Given the description of an element on the screen output the (x, y) to click on. 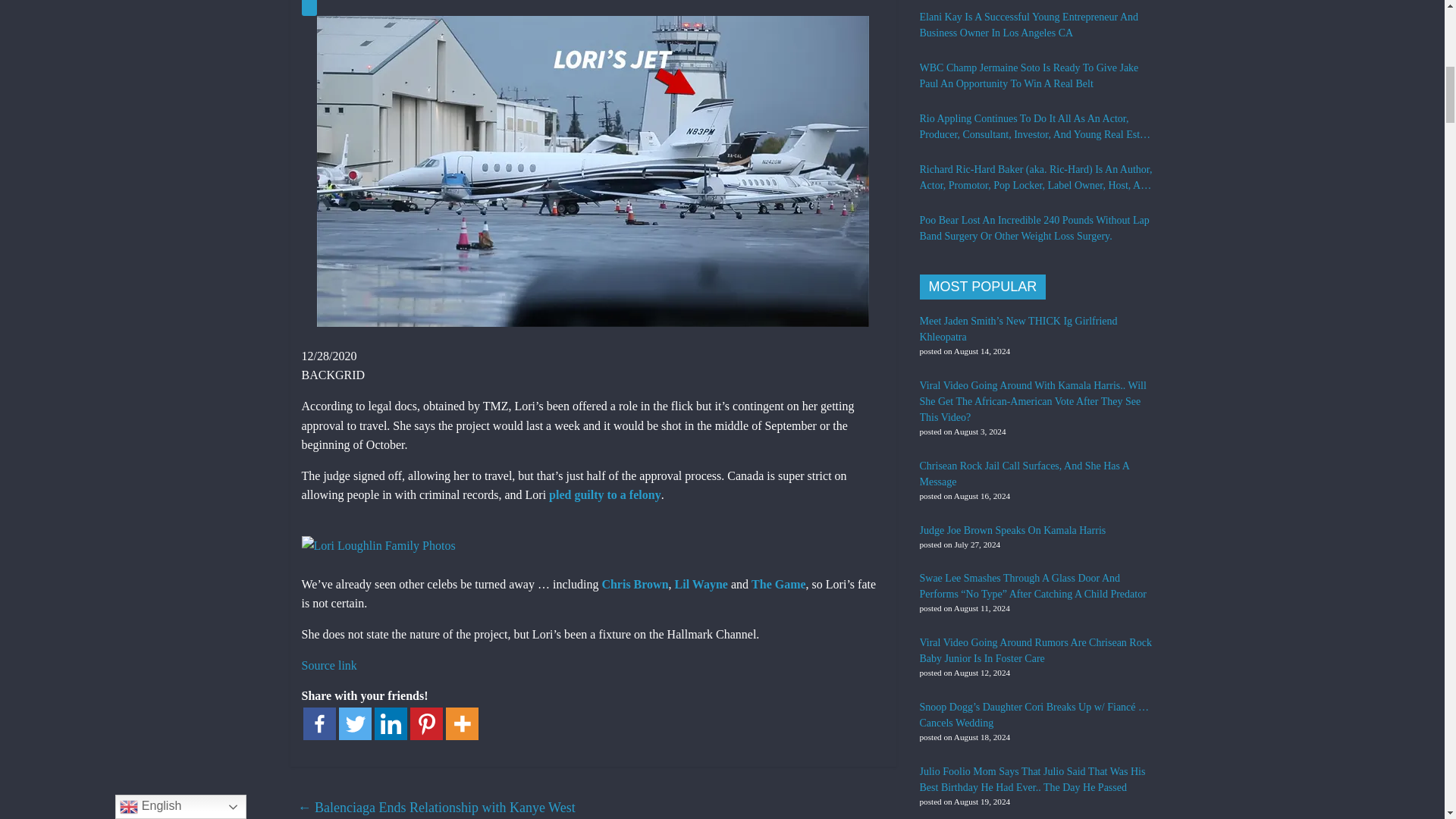
Facebook (319, 723)
Twitter (354, 723)
pled guilty to a felony (604, 494)
The Game (778, 584)
Source link (328, 665)
Chris Brown (634, 584)
Play video content (309, 7)
Linkedin (390, 723)
Pinterest (425, 723)
More (462, 723)
